Given the description of an element on the screen output the (x, y) to click on. 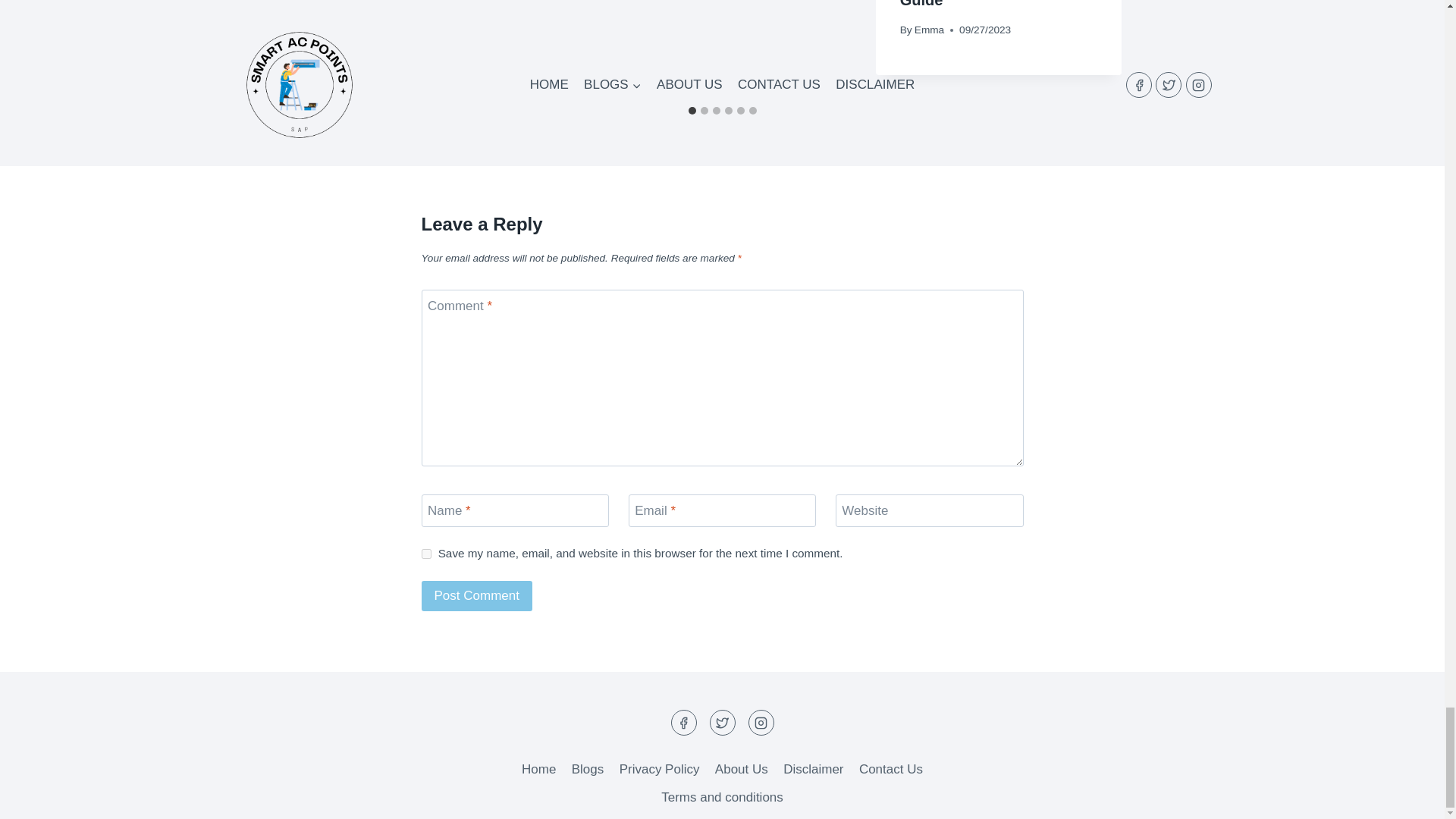
yes (426, 553)
Post Comment (477, 595)
